Given the description of an element on the screen output the (x, y) to click on. 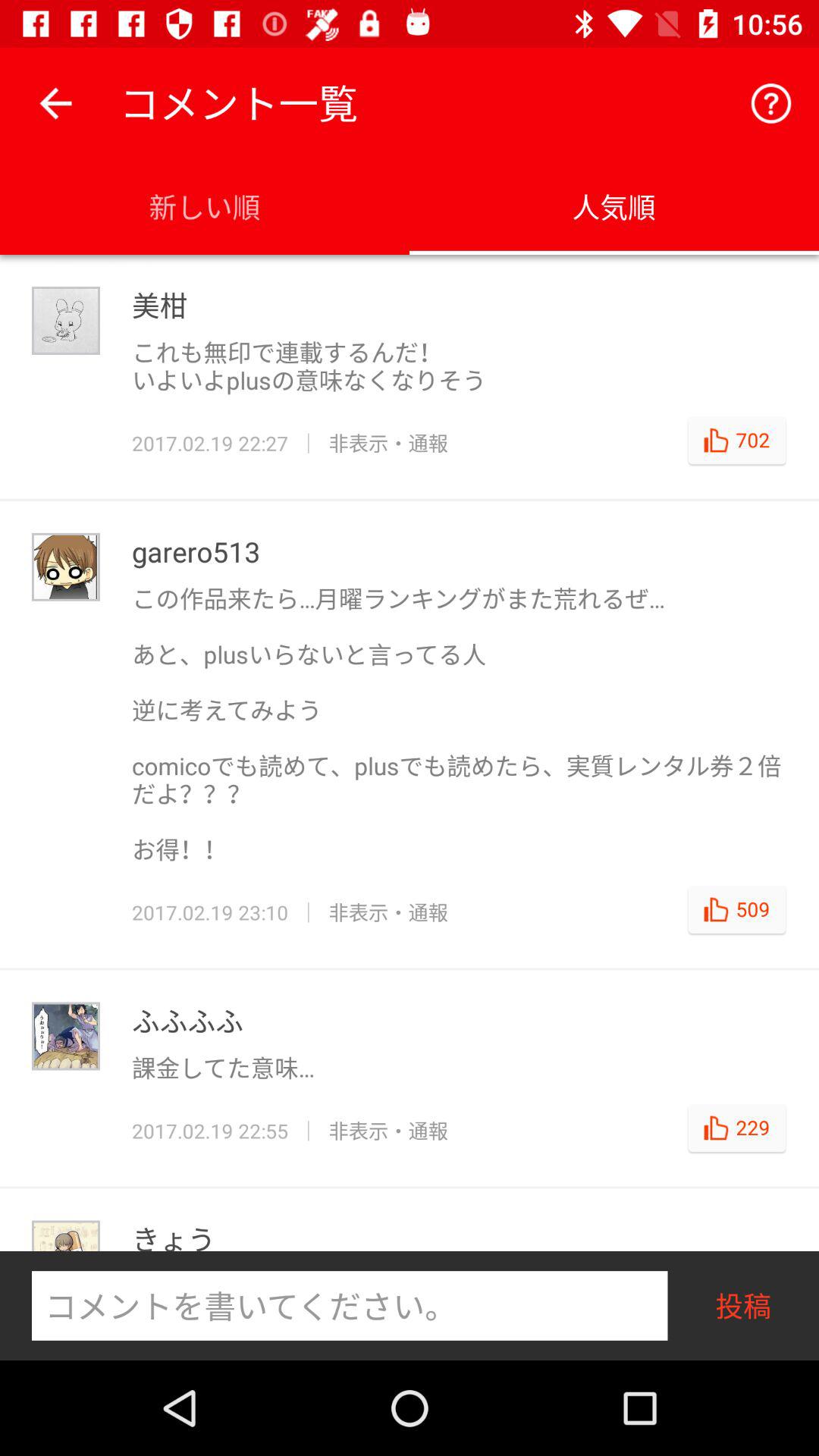
select the third user image from the top (65, 1036)
select the icon which is before garero513 on page (65, 566)
select the text which is left to number 229 (388, 1130)
select the text which is right to the text field at the bottom right corner (743, 1304)
